Given the description of an element on the screen output the (x, y) to click on. 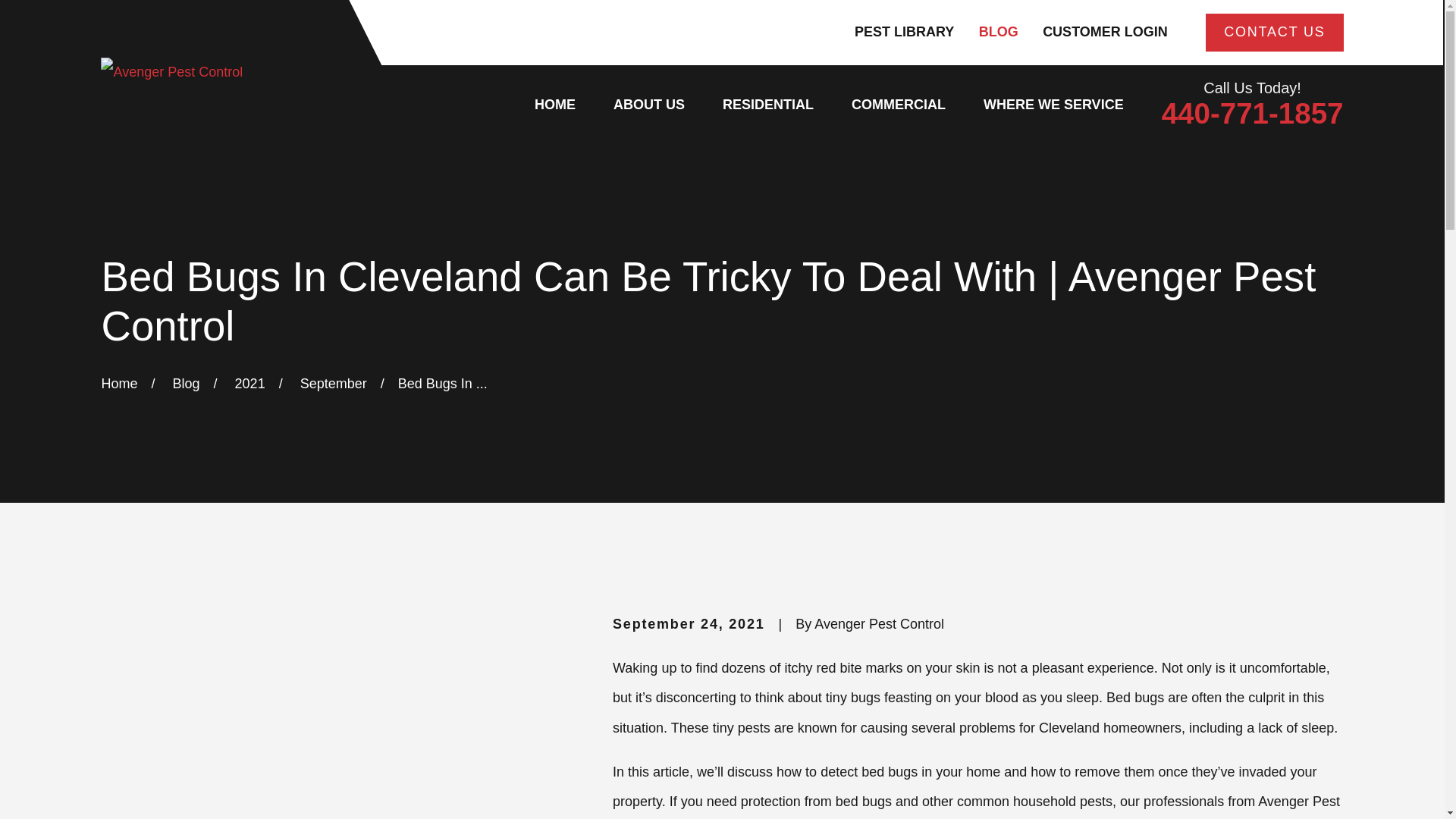
BLOG (997, 31)
Home (171, 72)
PEST LIBRARY (903, 31)
HOME (554, 105)
CONTACT US (1273, 32)
CUSTOMER LOGIN (1104, 31)
Go Home (118, 383)
ABOUT US (648, 105)
WHERE WE SERVICE (1054, 105)
COMMERCIAL (897, 105)
RESIDENTIAL (767, 105)
